Given the description of an element on the screen output the (x, y) to click on. 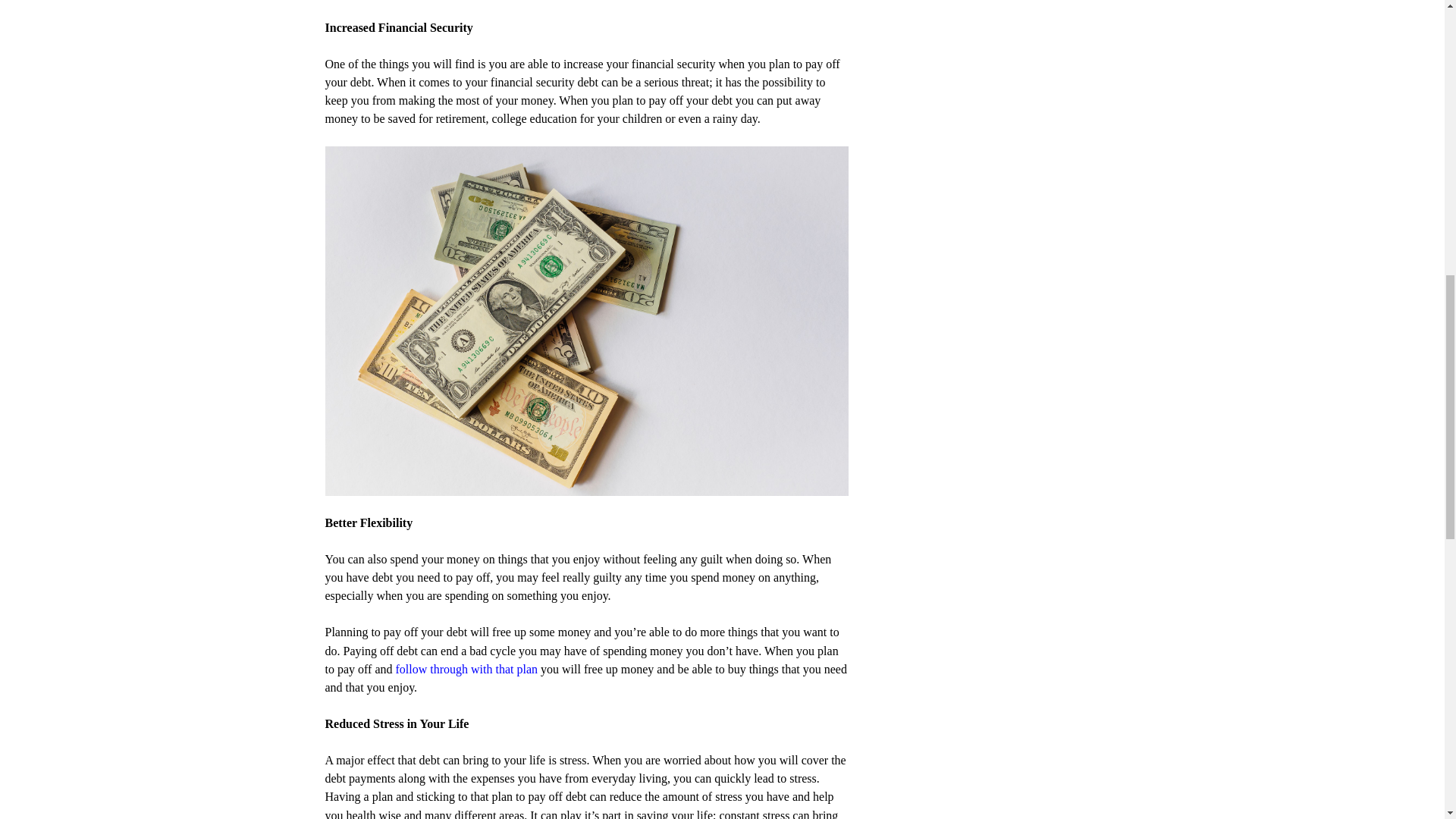
follow through with that plan (467, 668)
